Given the description of an element on the screen output the (x, y) to click on. 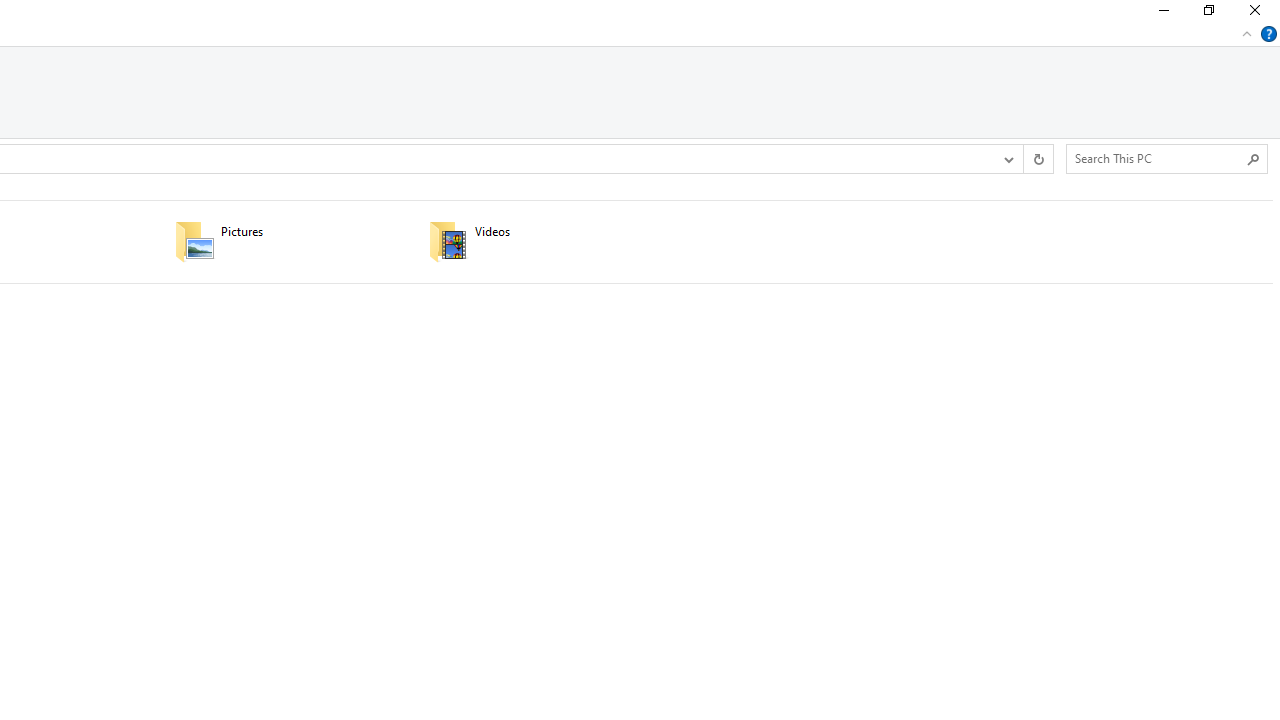
Address band toolbar (1023, 159)
Search (1253, 158)
Restore (1208, 14)
Minimize (1162, 14)
Name (568, 231)
Pictures (288, 241)
Videos (543, 241)
Minimize the Ribbon (1247, 33)
Previous Locations (1007, 159)
Refresh "This PC" (F5) (1037, 159)
Help (1269, 33)
Search Box (1156, 158)
